Given the description of an element on the screen output the (x, y) to click on. 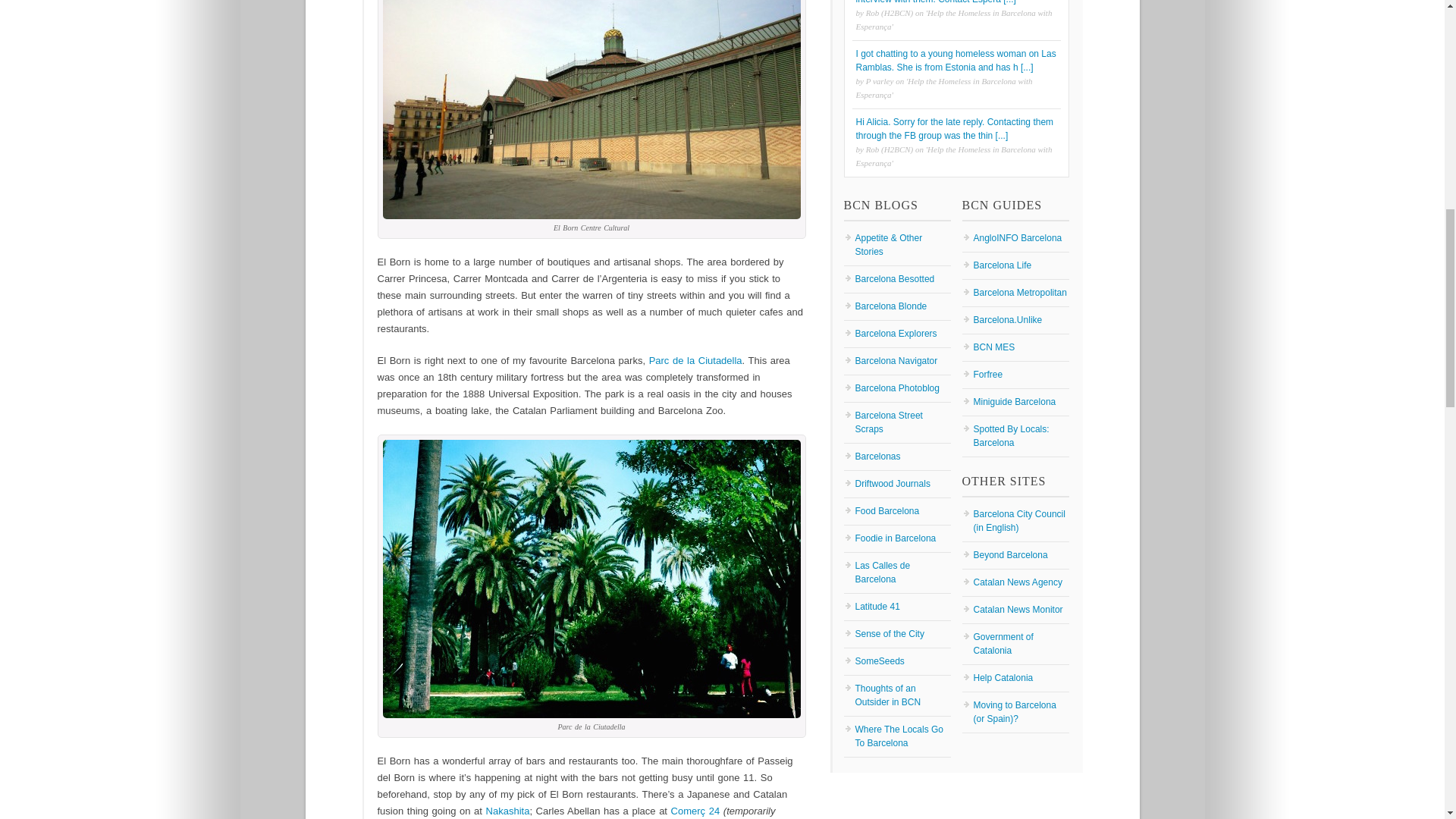
Parc de la Ciutadella (695, 360)
Nakashita (507, 810)
Parc de la Ciutadella (590, 578)
El Born Centre Cultural (590, 109)
